Given the description of an element on the screen output the (x, y) to click on. 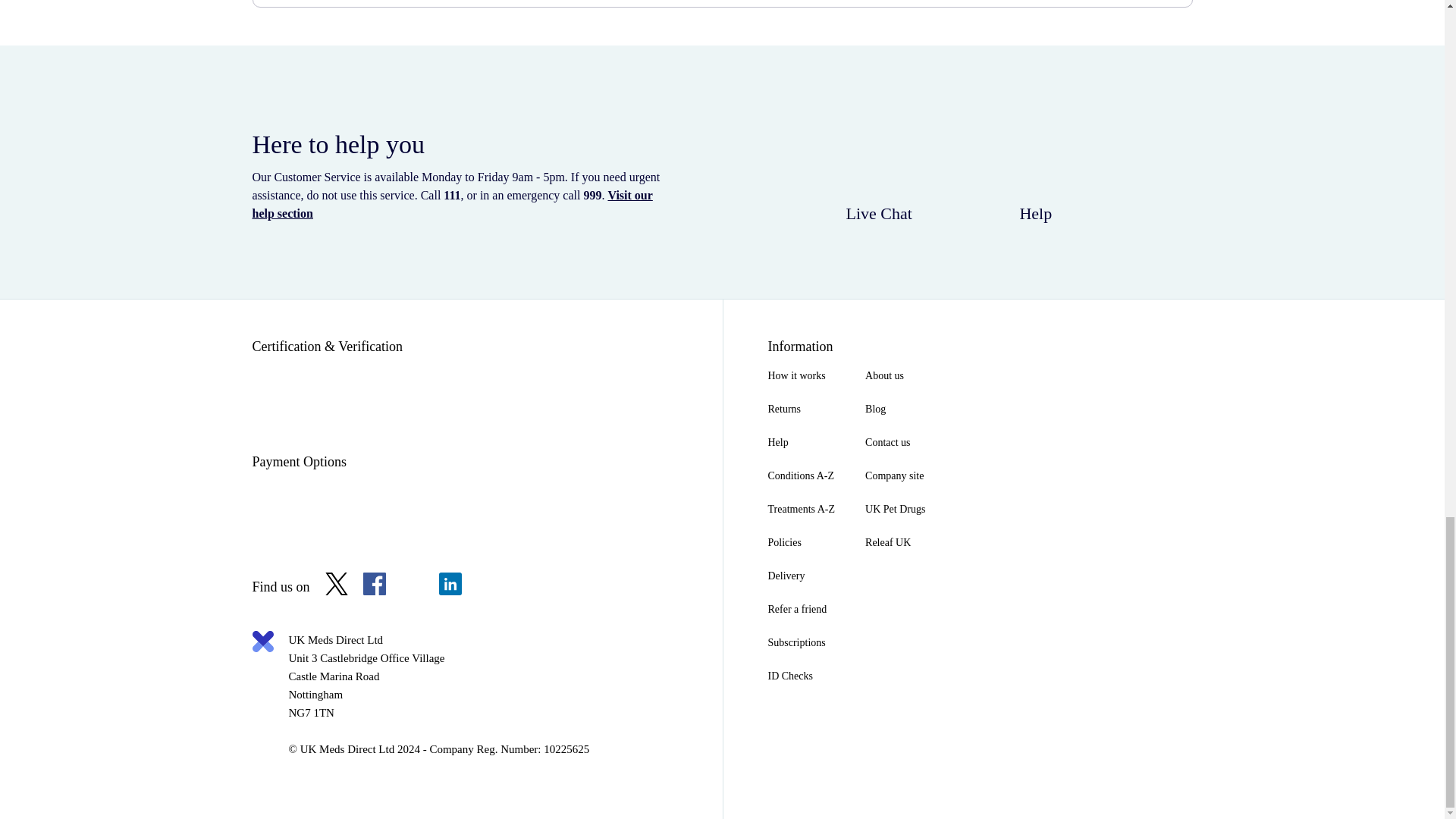
Visit our help section (451, 204)
How it works (800, 376)
Returns (800, 409)
Help (1034, 171)
Help (800, 442)
Live Chat (879, 171)
